Given the description of an element on the screen output the (x, y) to click on. 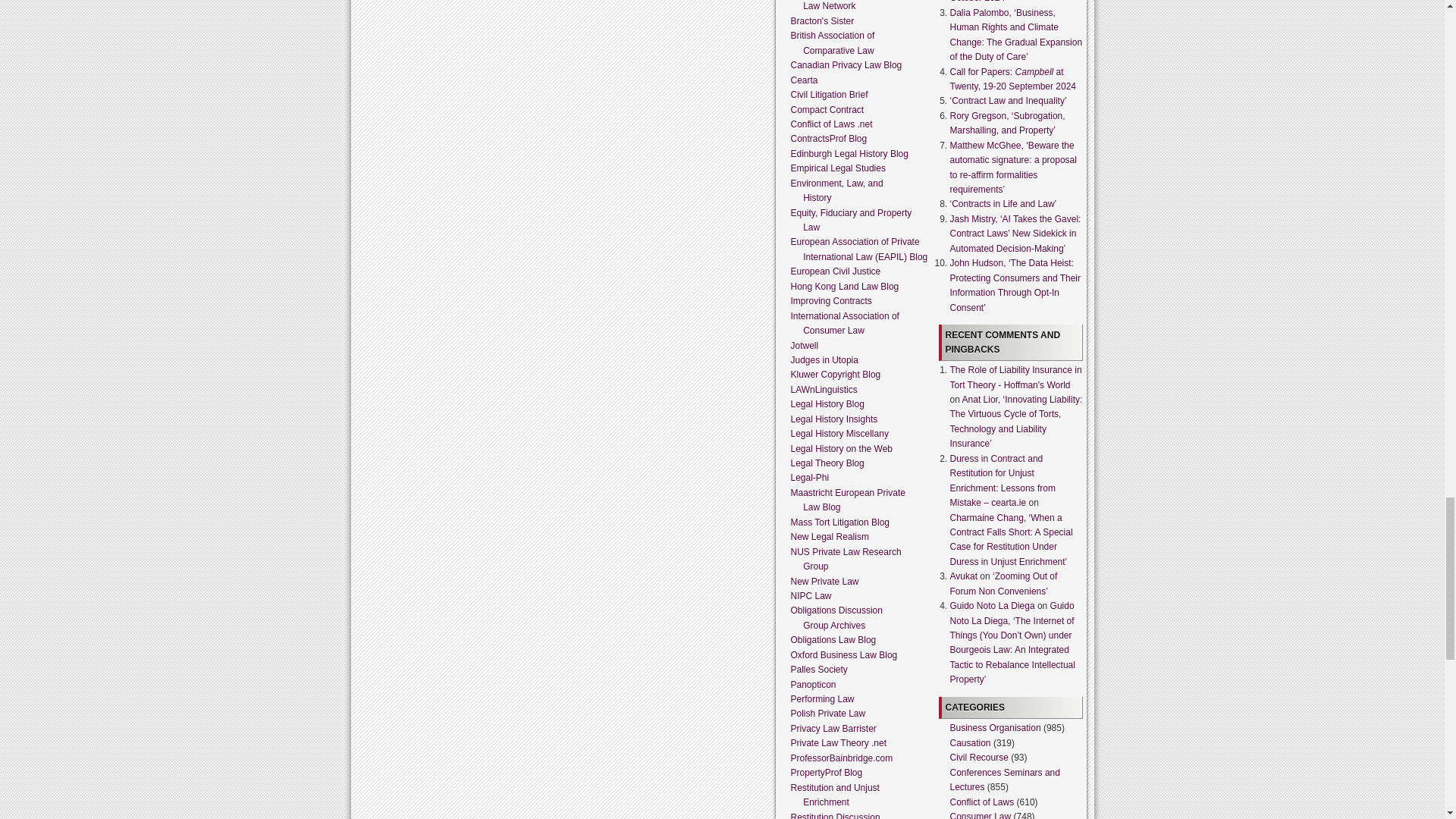
Call for Papers: Campbell at Twenty, 19-20 September 2024 (1012, 78)
